Given the description of an element on the screen output the (x, y) to click on. 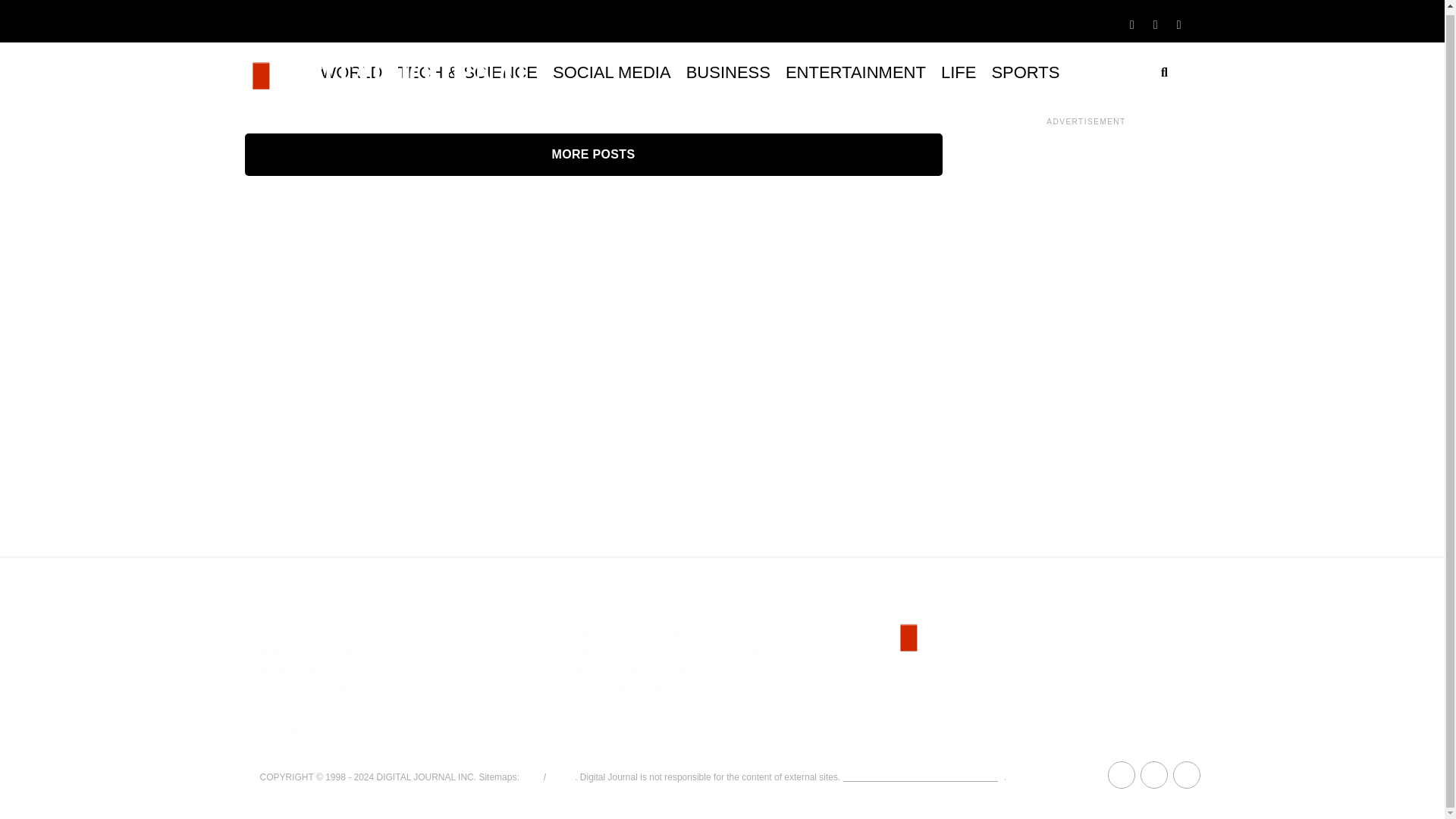
SPONSORED CONTENT (326, 671)
News (560, 776)
INSIGHT FORUM (304, 651)
FEATURED: ACCESSWIRE (651, 631)
Read more about our external linking (923, 776)
TERMS OF USE (301, 690)
WORLD (351, 72)
FEATURED: PRODIGY PRESS WIRE (677, 651)
CONTACT US (295, 730)
PRIVACY POLICY (307, 710)
